Given the description of an element on the screen output the (x, y) to click on. 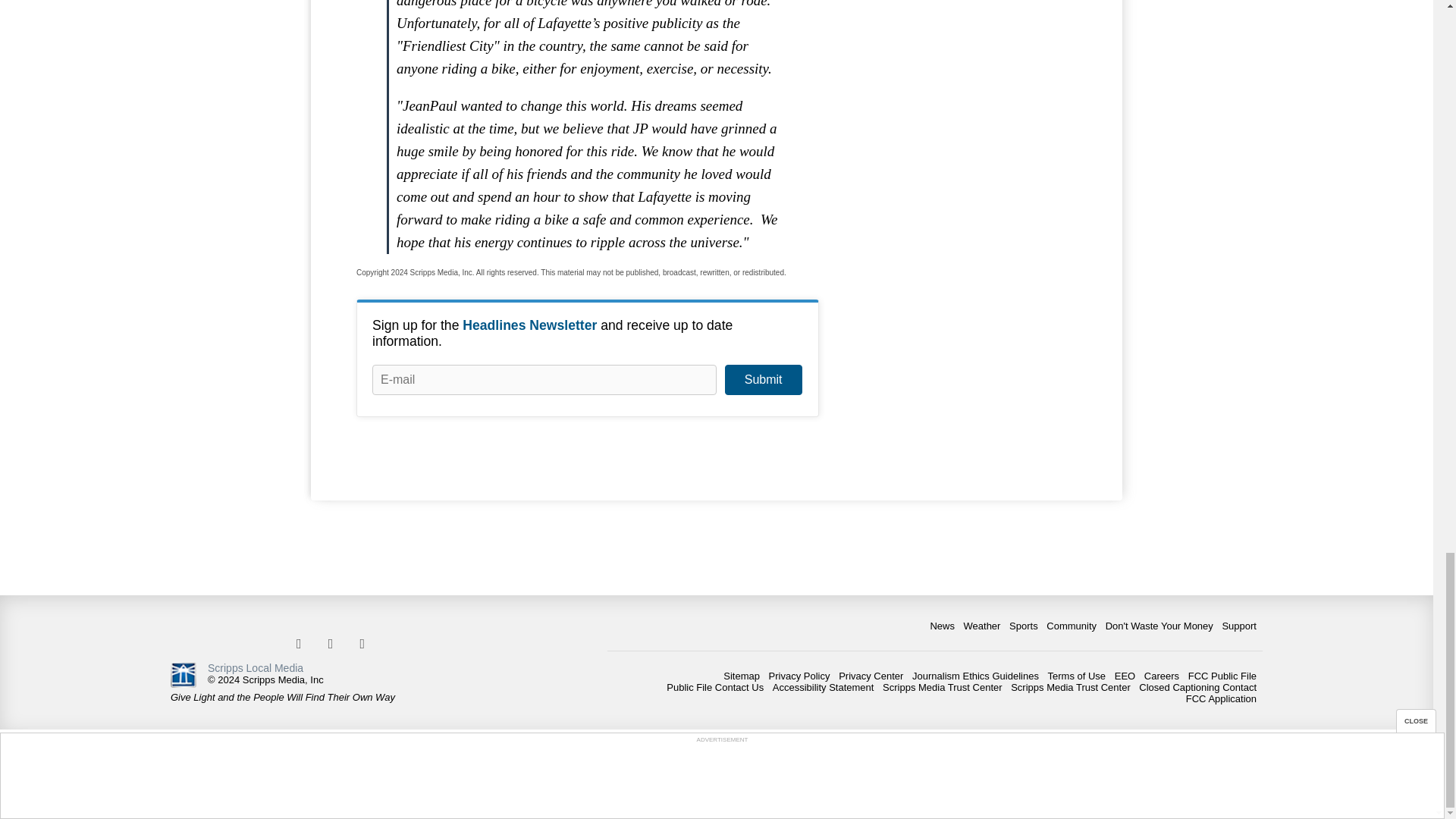
Submit (763, 379)
